Given the description of an element on the screen output the (x, y) to click on. 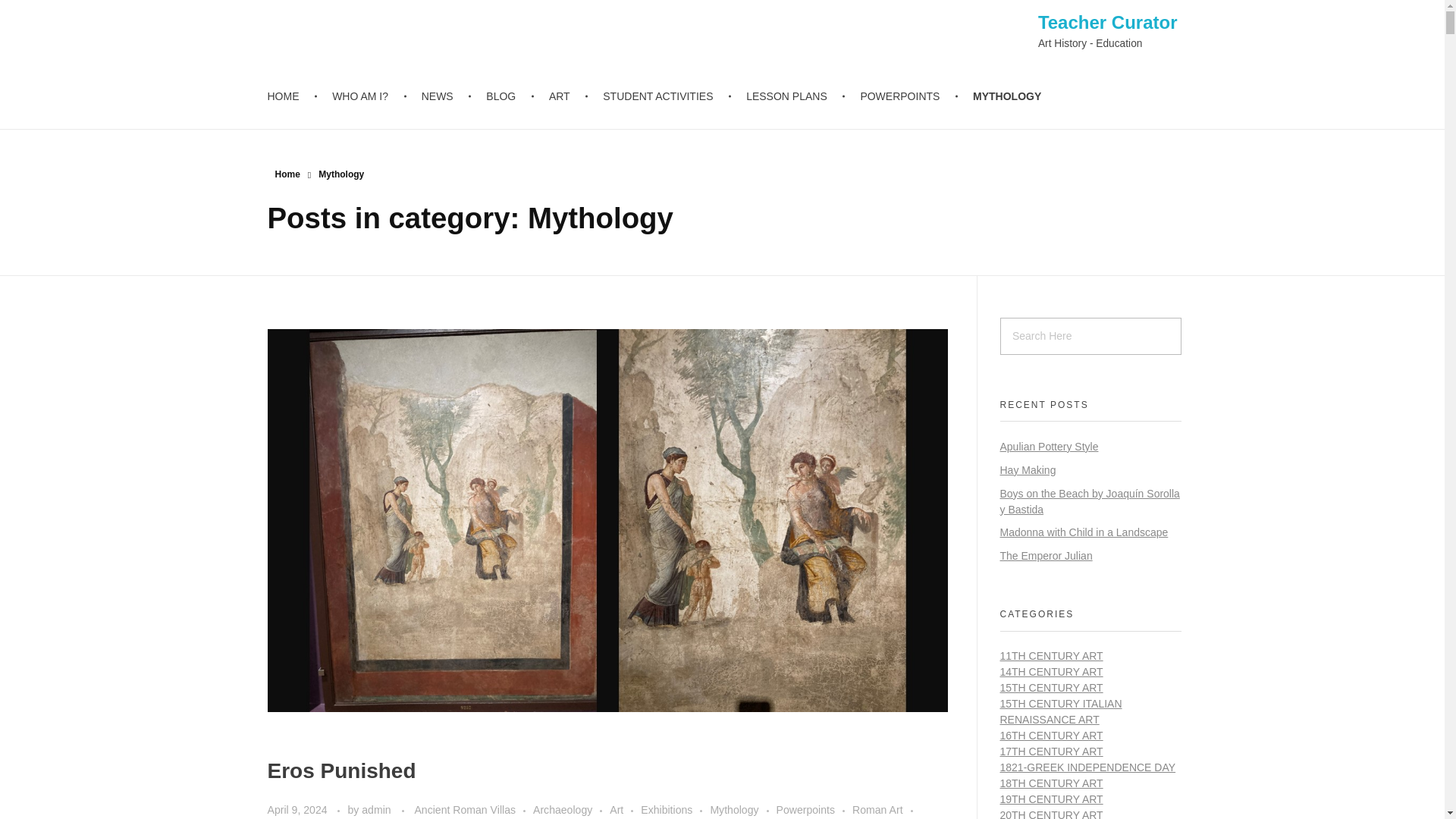
Art (625, 810)
POWERPOINTS (902, 96)
View all posts in Roman Art (885, 810)
Teacher Curator (1107, 21)
View all posts in Art (625, 810)
WHO AM I? (362, 96)
Ancient Roman Villas (472, 810)
Home (287, 173)
admin (377, 809)
